Given the description of an element on the screen output the (x, y) to click on. 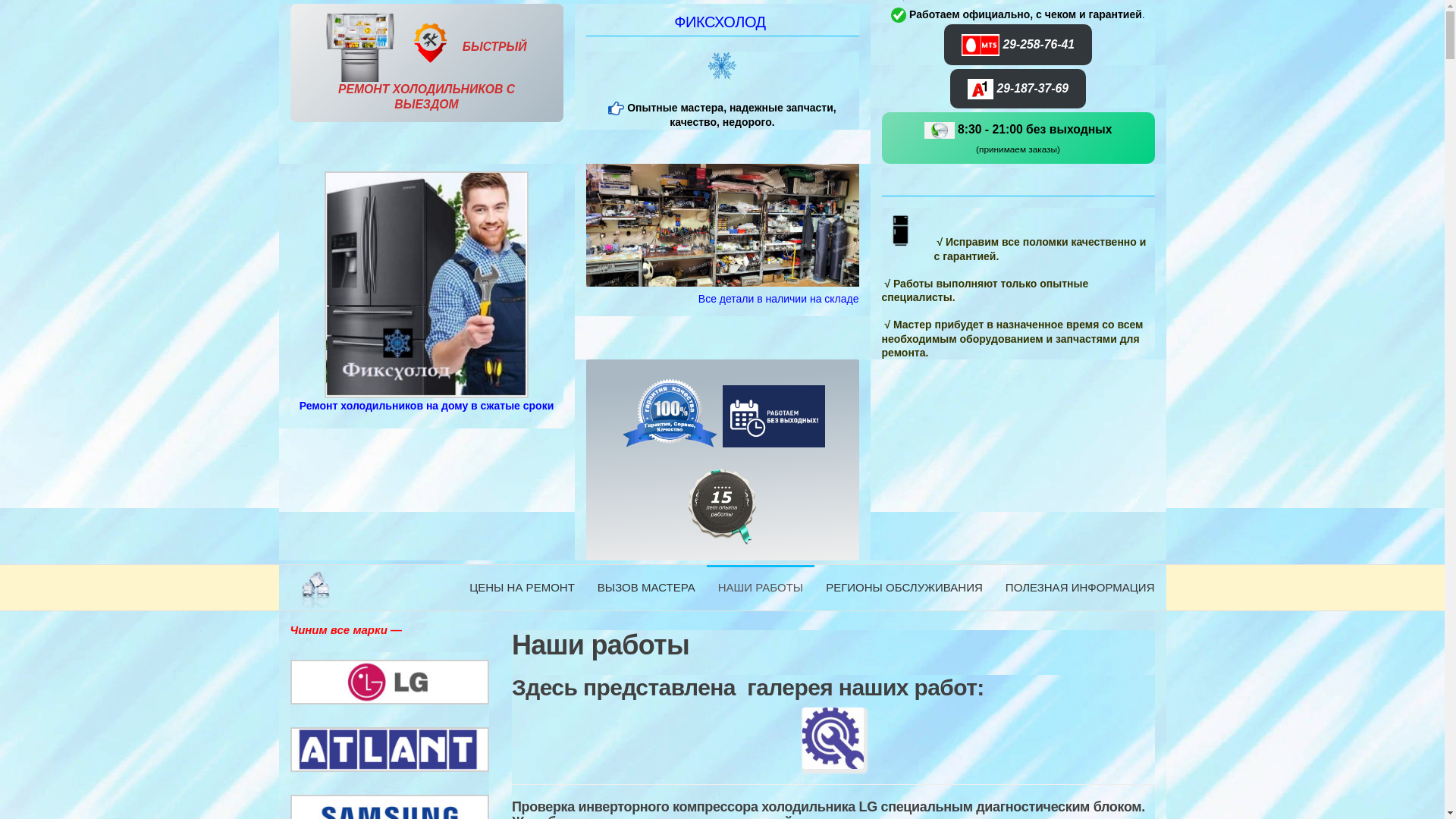
29-187-37-69 Element type: text (1017, 88)
29-258-76-41 Element type: text (1018, 44)
